Given the description of an element on the screen output the (x, y) to click on. 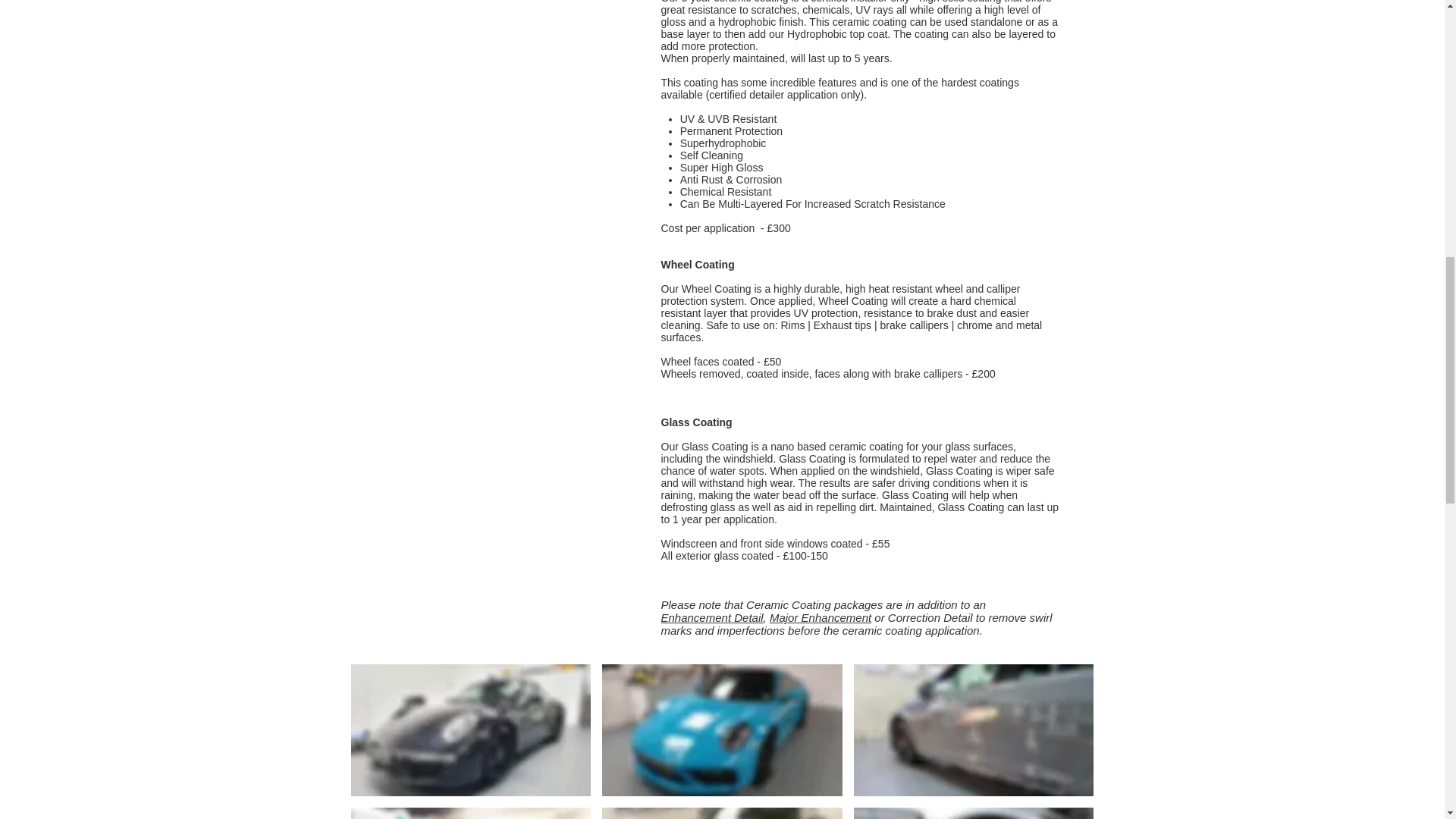
Major Enhancement (820, 617)
Enhancement Detail (711, 617)
